Given the description of an element on the screen output the (x, y) to click on. 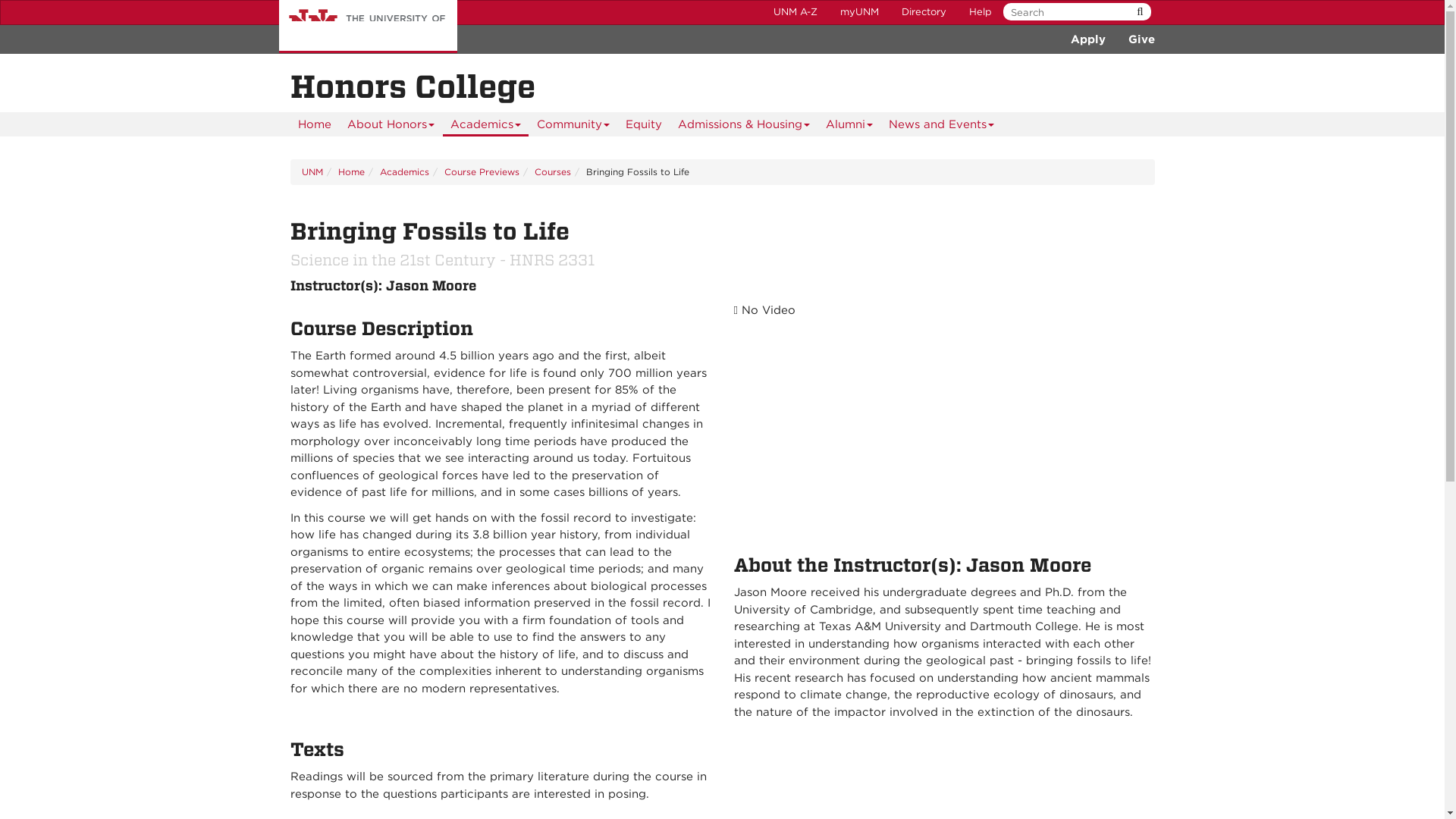
The University of New Mexico (368, 26)
input search query here (1073, 12)
Directory (923, 11)
Directory (923, 11)
Help (980, 11)
About Honors  (390, 124)
Give (1141, 38)
UNM A to Z (794, 11)
UNM A-Z (794, 11)
myUNM (858, 11)
